Given the description of an element on the screen output the (x, y) to click on. 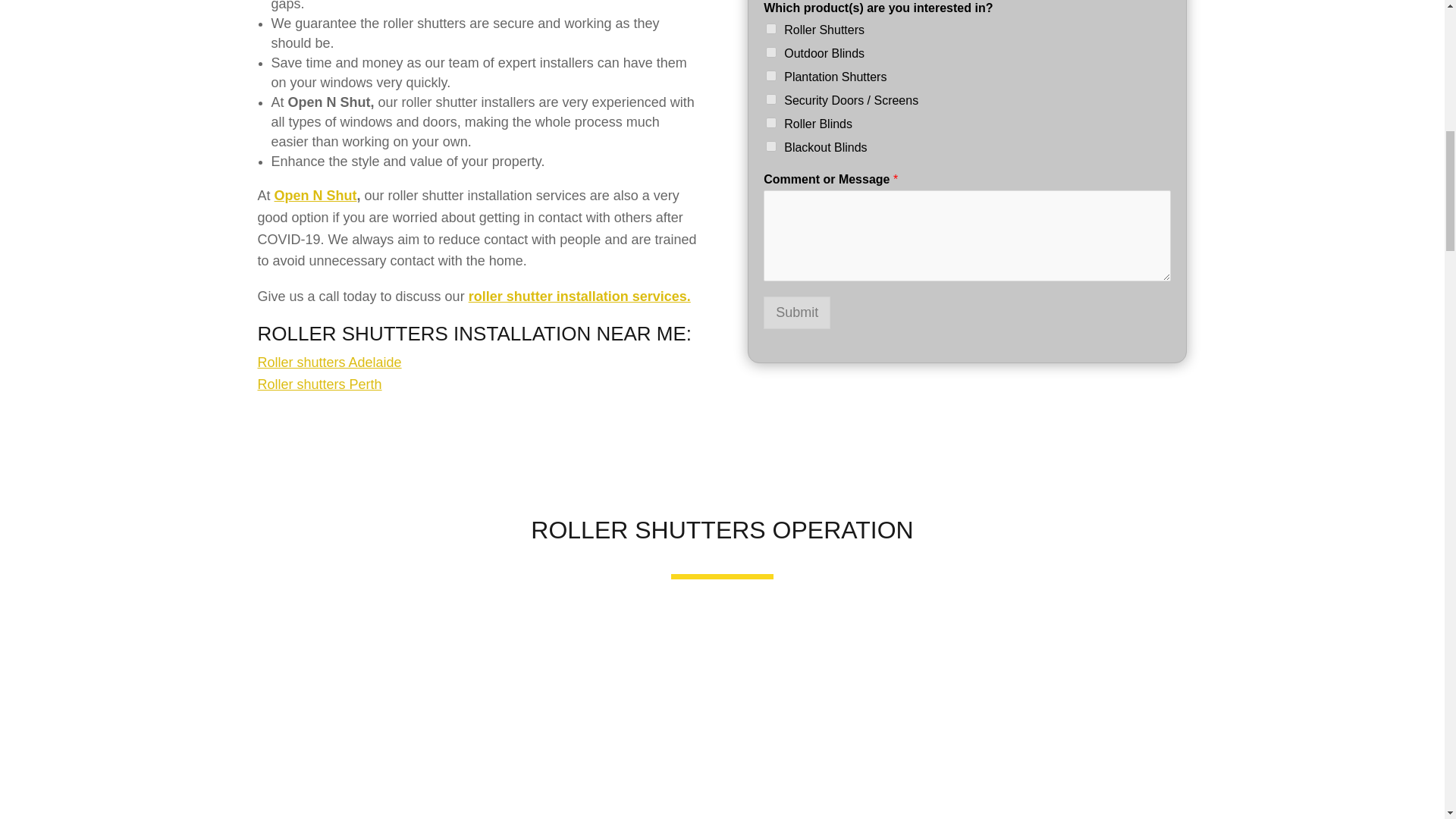
Outdoor Blinds (770, 51)
Roller Blinds (770, 122)
Plantation Shutters (770, 75)
Roller Shutters (770, 28)
Blackout Blinds (770, 145)
